Given the description of an element on the screen output the (x, y) to click on. 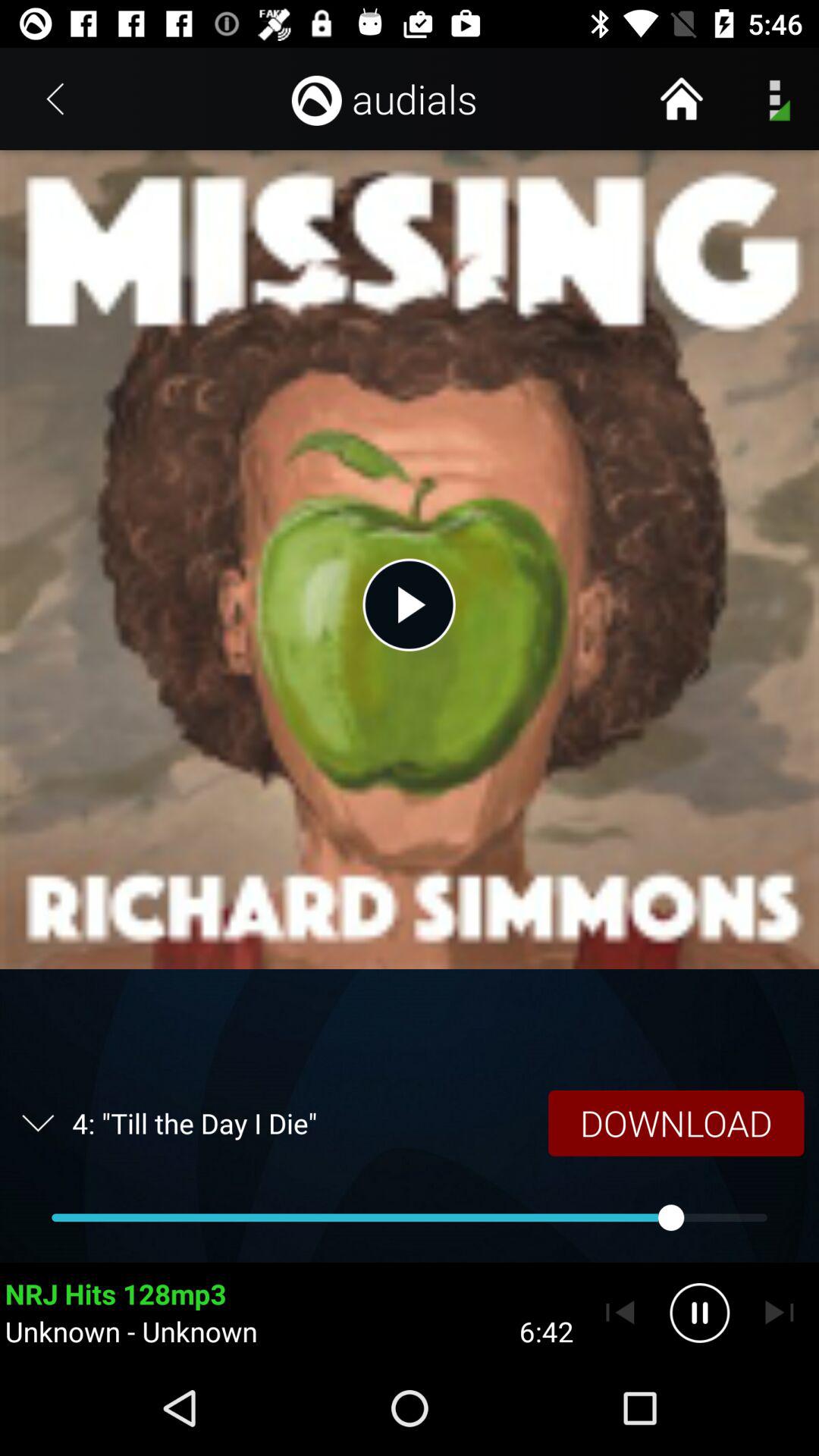
go back to previous station (619, 1312)
